Given the description of an element on the screen output the (x, y) to click on. 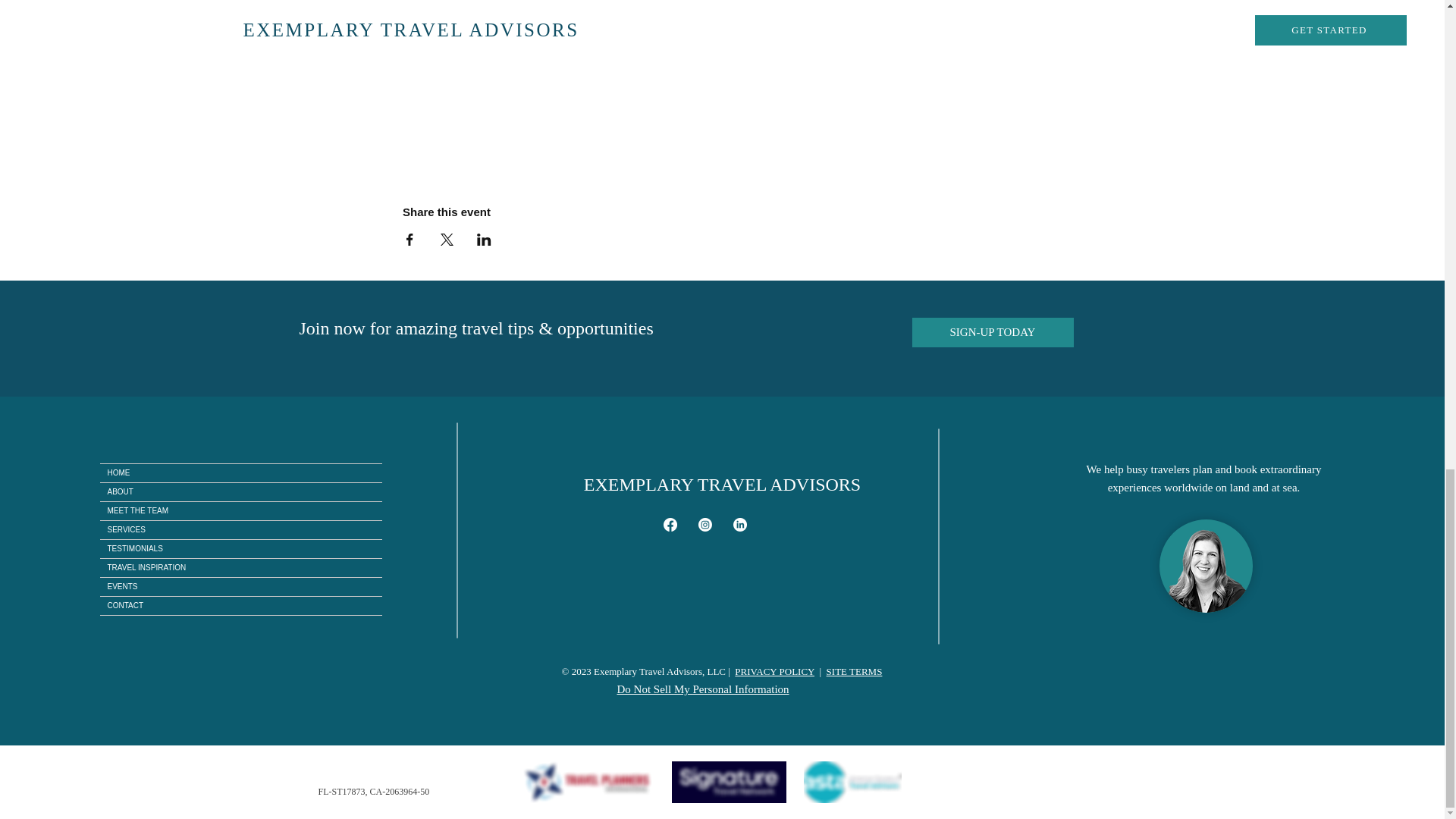
TRAVEL INSPIRATION (240, 567)
SERVICES (240, 529)
TESTIMONIALS (240, 548)
SIGN-UP TODAY (992, 332)
Do Not Sell My Personal Information (703, 689)
MEET THE TEAM (240, 511)
SITE TERMS (854, 671)
PRIVACY POLICY (774, 671)
HOME (240, 473)
ABOUT (240, 492)
